Given the description of an element on the screen output the (x, y) to click on. 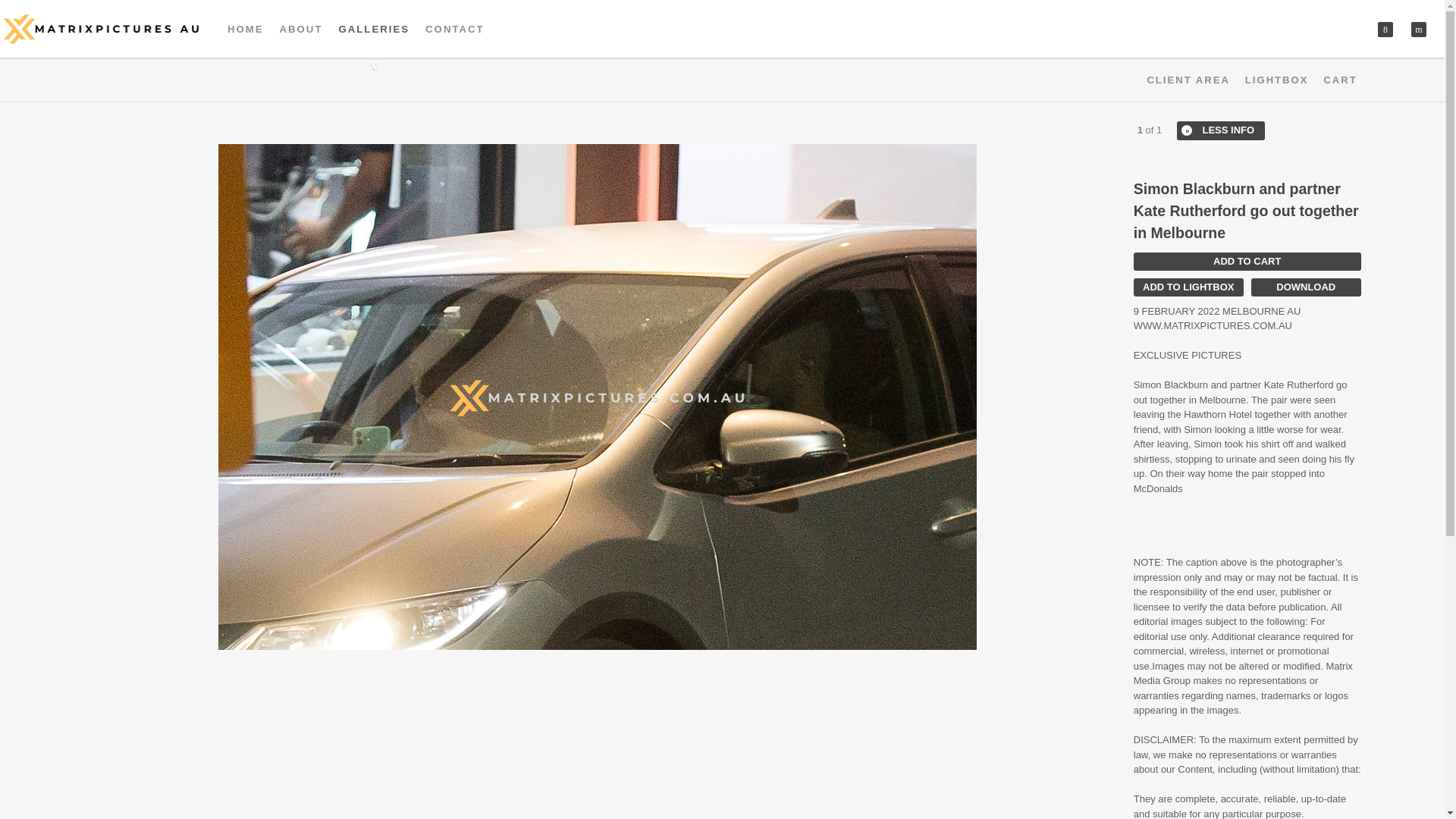
GALLERIES (373, 28)
MATRIXPICTURES.COM.AU (103, 28)
Info (1220, 130)
DOWNLOAD (1305, 286)
ABOUT (300, 28)
MATRIXPICTURES.COM.AU (103, 28)
LIGHTBOX (1276, 80)
CONTACT (455, 28)
Share This (1385, 29)
x (1385, 29)
ADD TO CART (1247, 260)
CLIENT AREA (1187, 80)
CART (1339, 80)
ADD TO LIGHTBOX (1188, 286)
Add to Cart (1247, 260)
